Given the description of an element on the screen output the (x, y) to click on. 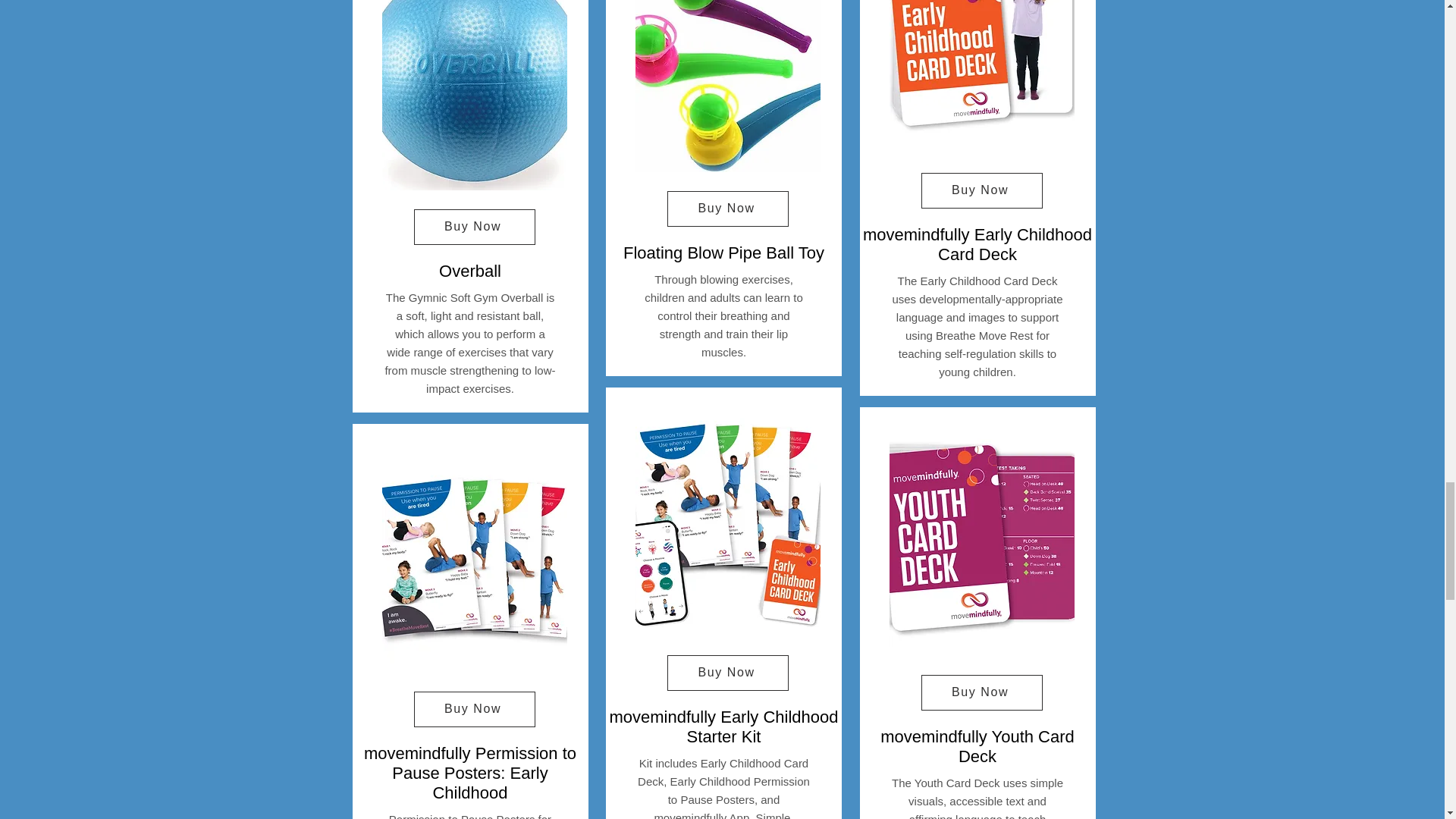
Buy Now (474, 226)
Buy Now (474, 709)
Overball.jpg (474, 95)
Floating Ball Pipe.jpg (727, 85)
